Given the description of an element on the screen output the (x, y) to click on. 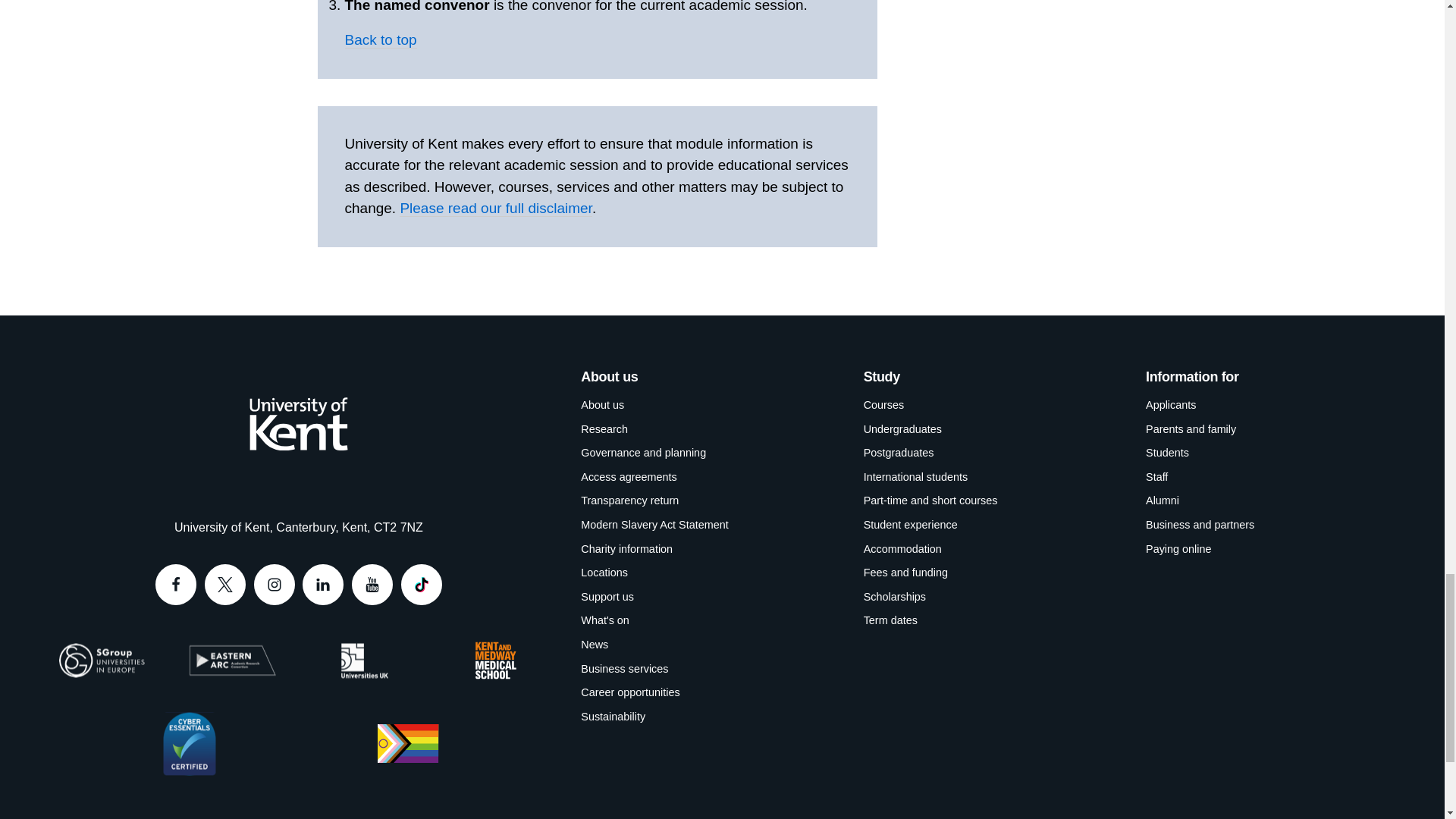
University of Kent logo (297, 423)
